Given the description of an element on the screen output the (x, y) to click on. 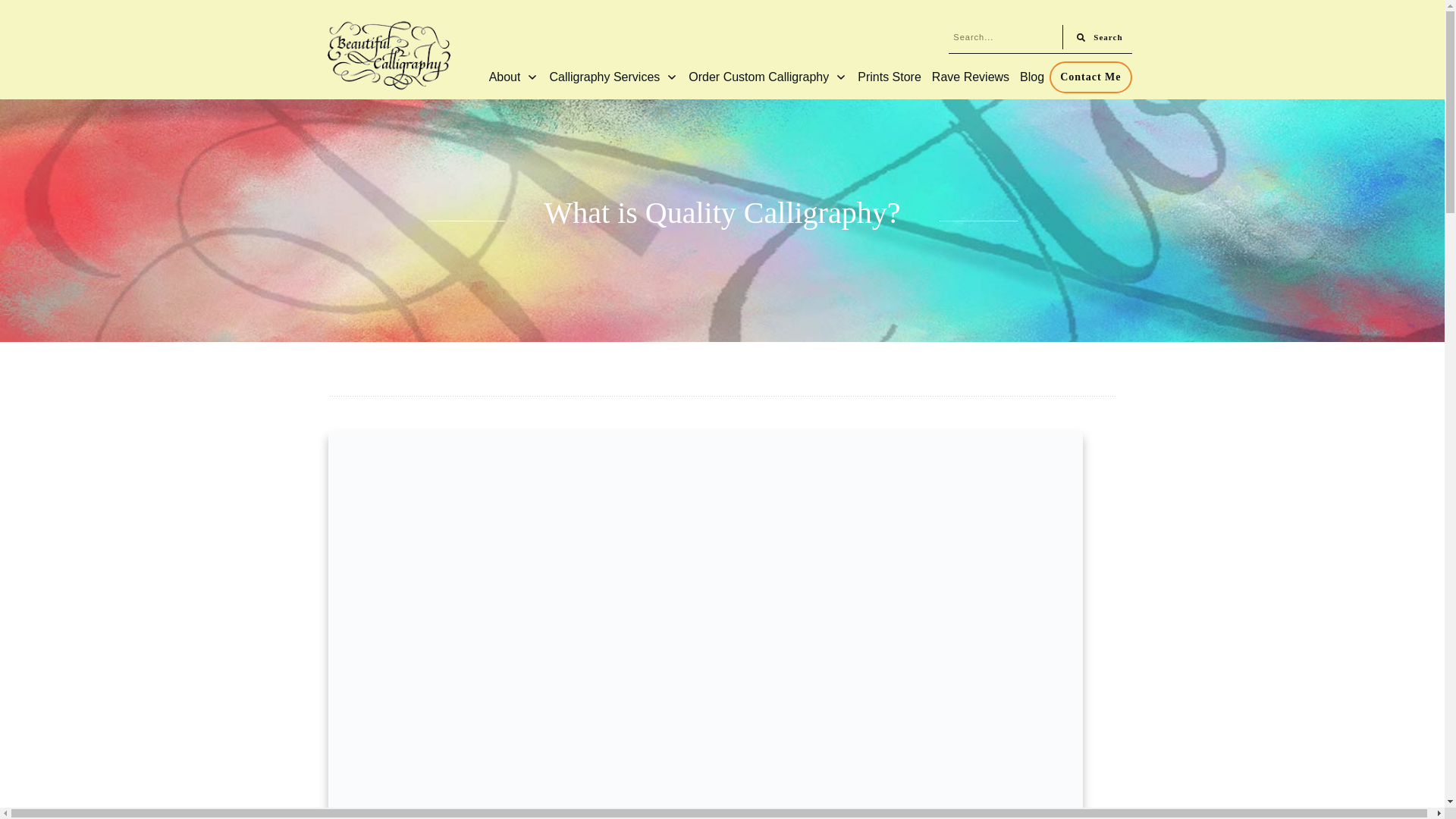
Rave Reviews (970, 76)
Prints Store (889, 76)
Calligraphy Services (613, 76)
Contact Me (1090, 76)
What is Quality Calligraphy? (722, 212)
About (513, 76)
Blog (1031, 76)
Search (1096, 37)
Order Custom Calligraphy (767, 76)
What is Quality Calligraphy? (722, 212)
